Given the description of an element on the screen output the (x, y) to click on. 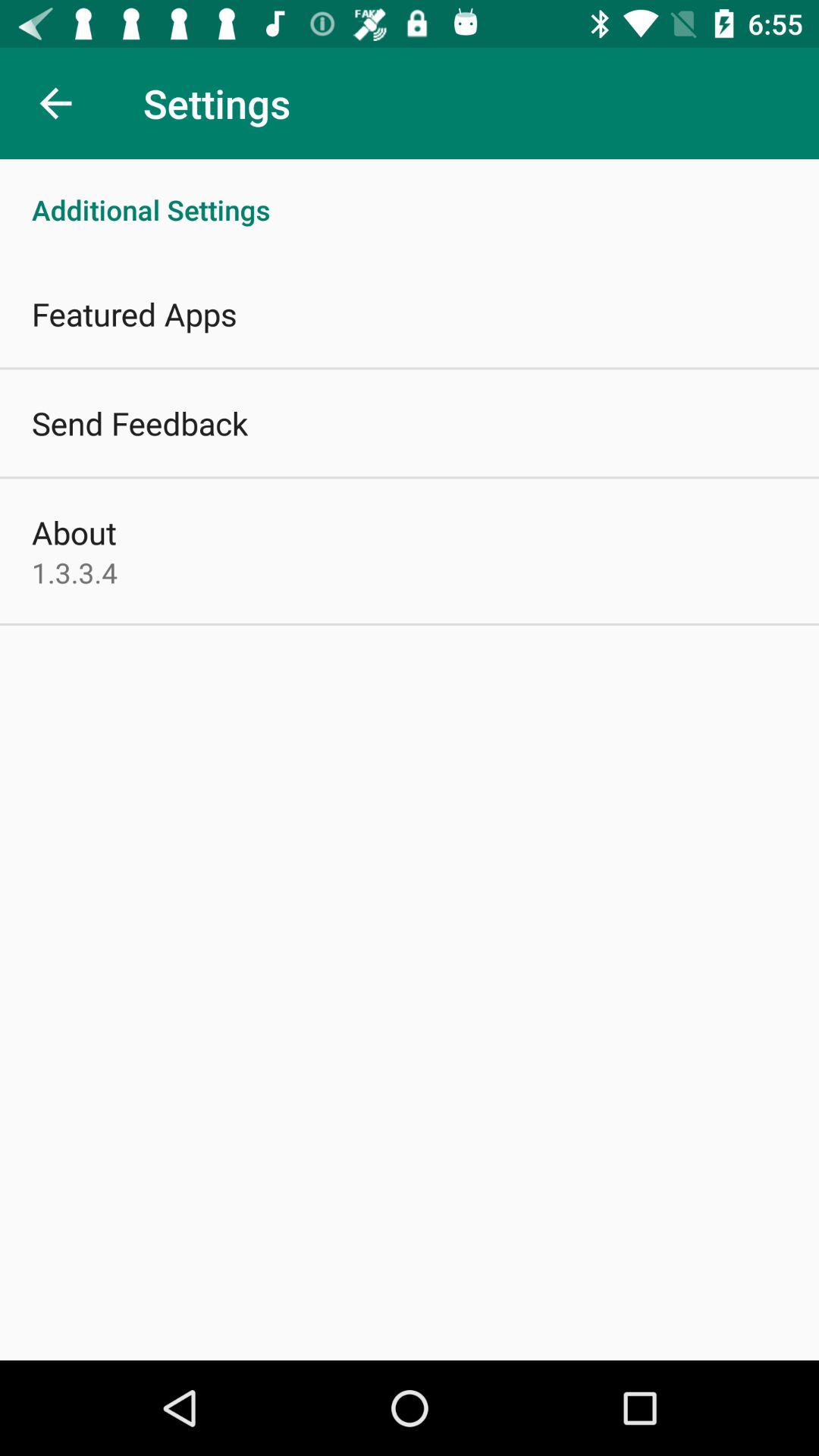
press the icon to the left of the settings (55, 103)
